Given the description of an element on the screen output the (x, y) to click on. 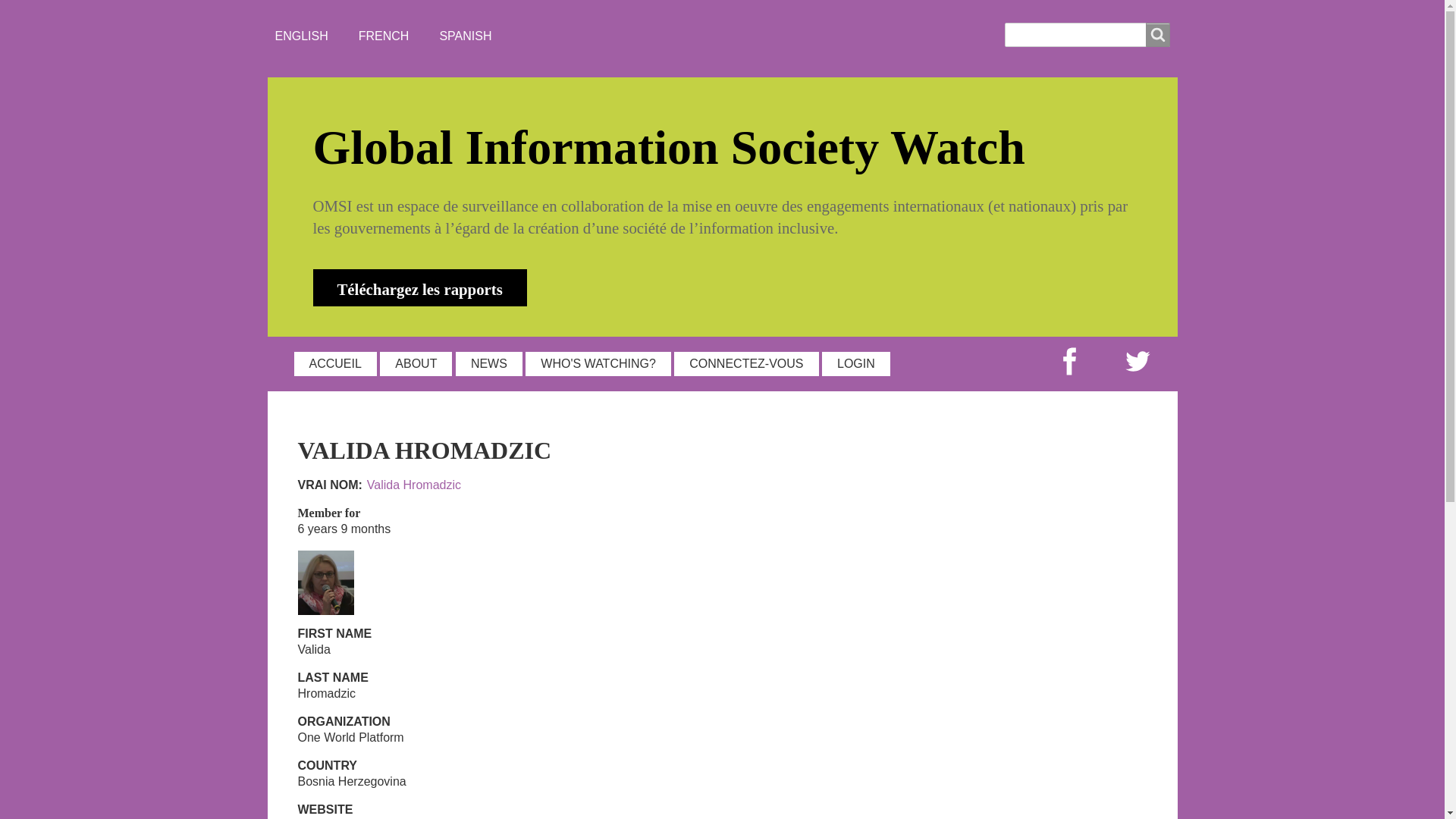
ENGLISH (301, 35)
ABOUT (415, 363)
Rechercher (1156, 34)
SPANISH (465, 35)
ACCUEIL (335, 363)
LOGIN (855, 363)
NEWS (488, 363)
WHO'S WATCHING? (598, 363)
Rechercher (1156, 34)
Rechercher (1156, 34)
